Given the description of an element on the screen output the (x, y) to click on. 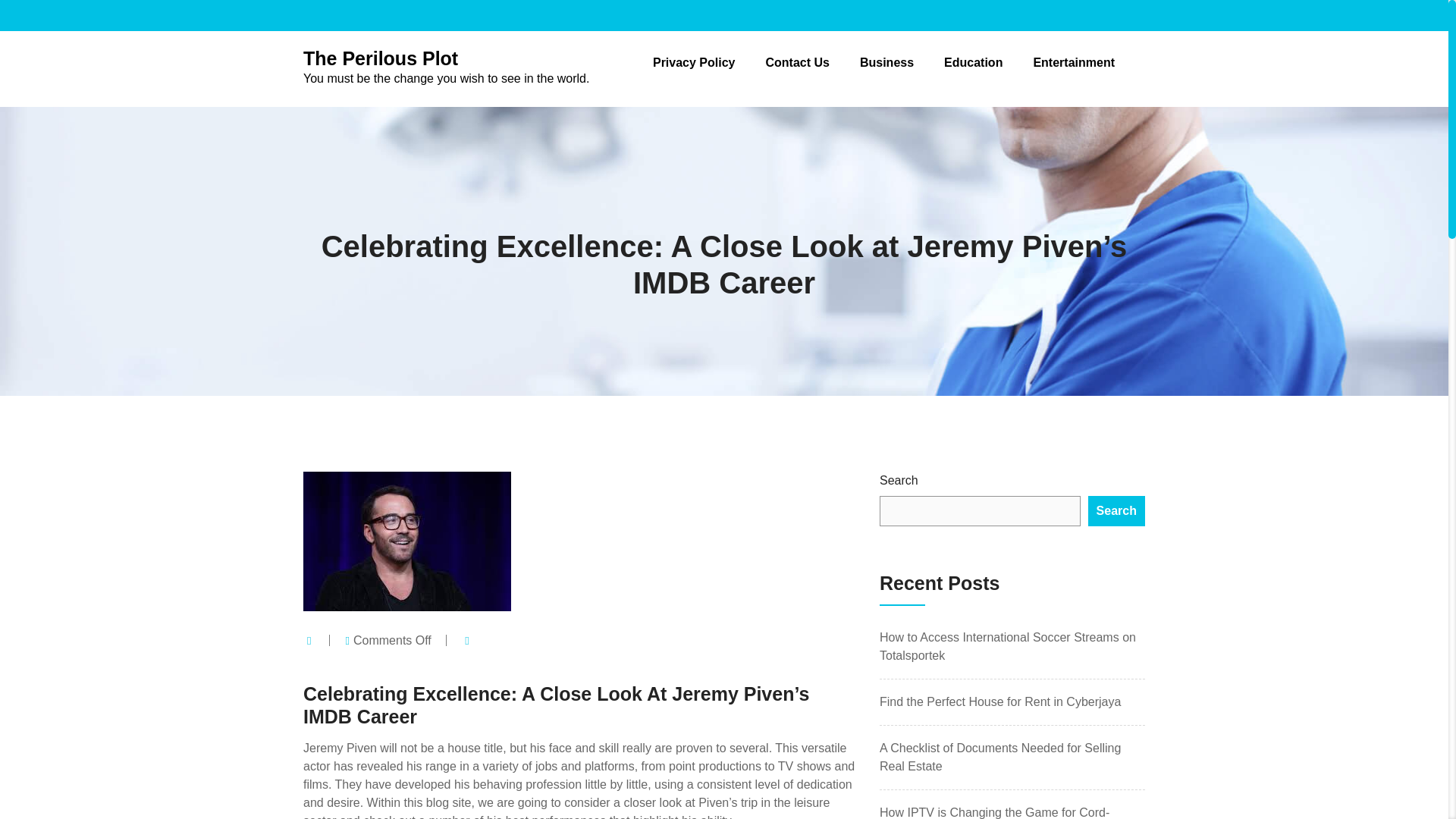
A Checklist of Documents Needed for Selling Real Estate (1000, 757)
Privacy Policy (693, 62)
Search (1115, 511)
Find the Perfect House for Rent in Cyberjaya (1000, 701)
Entertainment (1073, 62)
How IPTV is Changing the Game for Cord-Cutters (994, 812)
Education (973, 62)
Contact Us (796, 62)
How to Access International Soccer Streams on Totalsportek (1007, 645)
Business (887, 62)
